Given the description of an element on the screen output the (x, y) to click on. 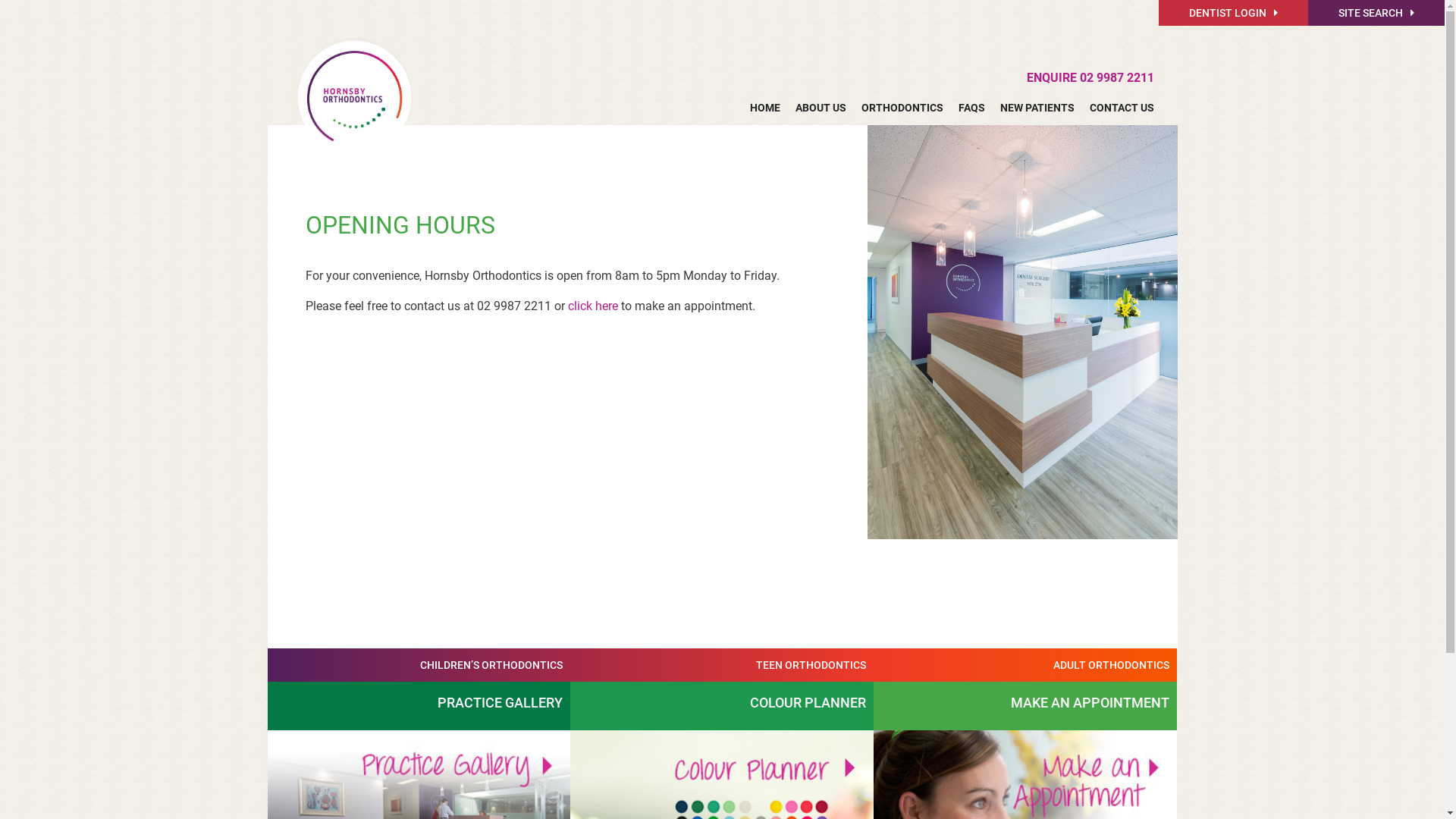
FAQS Element type: text (971, 107)
HOME Element type: text (764, 107)
NEW PATIENTS Element type: text (1037, 107)
MAKE AN APPOINTMENT Element type: text (1024, 705)
PRACTICE GALLERY Element type: text (418, 705)
COLOUR PLANNER Element type: text (721, 705)
DENTIST LOGIN Element type: text (1233, 12)
ABOUT US Element type: text (820, 107)
TEEN ORTHODONTICS Element type: text (721, 664)
click here Element type: text (592, 305)
ENQUIRE 02 9987 2211 Element type: text (1090, 77)
CONTACT US Element type: text (1118, 107)
ADULT ORTHODONTICS Element type: text (1024, 664)
ORTHODONTICS Element type: text (901, 107)
SITE SEARCH Element type: text (1376, 12)
